Given the description of an element on the screen output the (x, y) to click on. 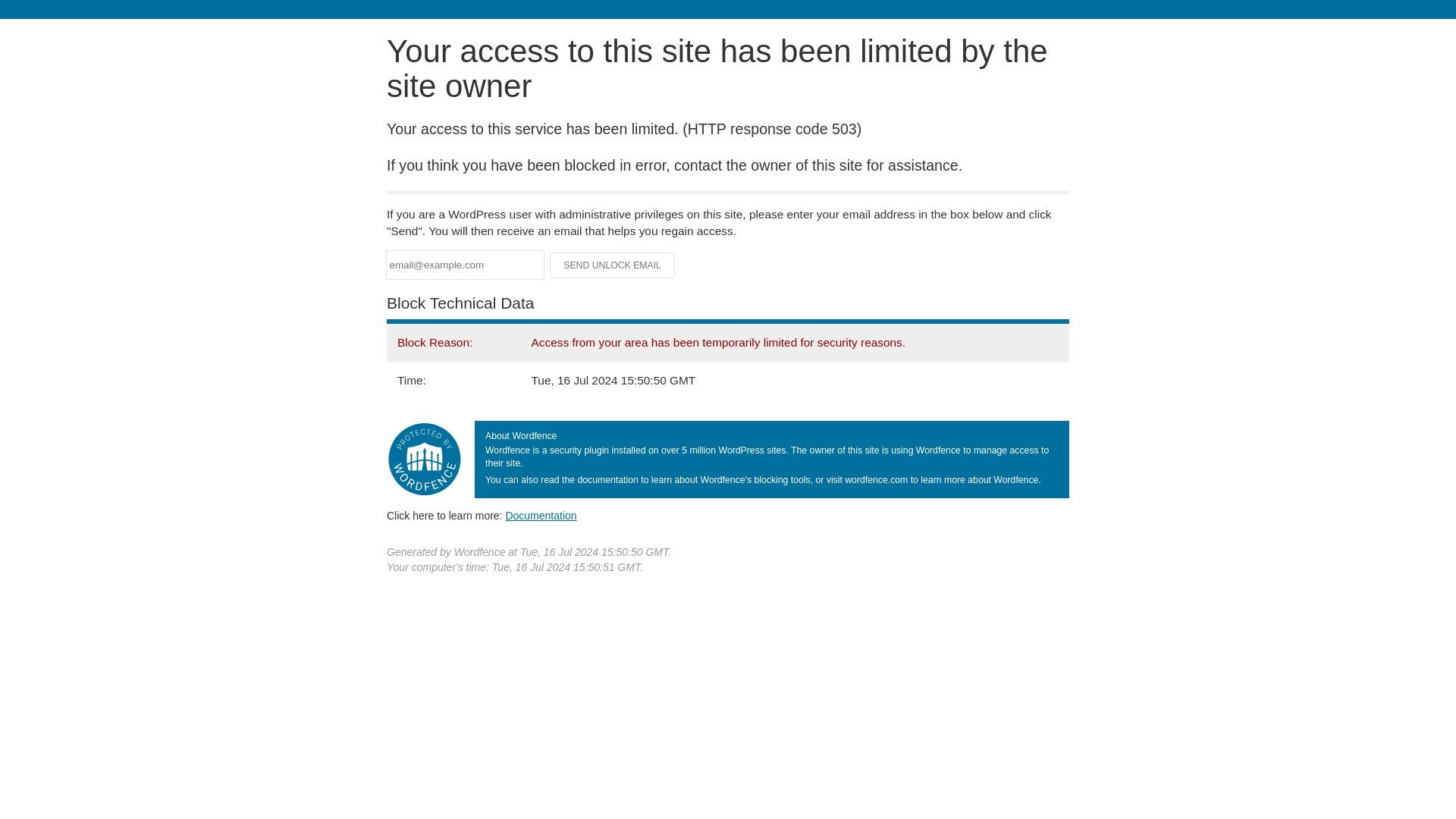
Documentation (540, 515)
Send Unlock Email (612, 265)
Send Unlock Email (612, 265)
